Given the description of an element on the screen output the (x, y) to click on. 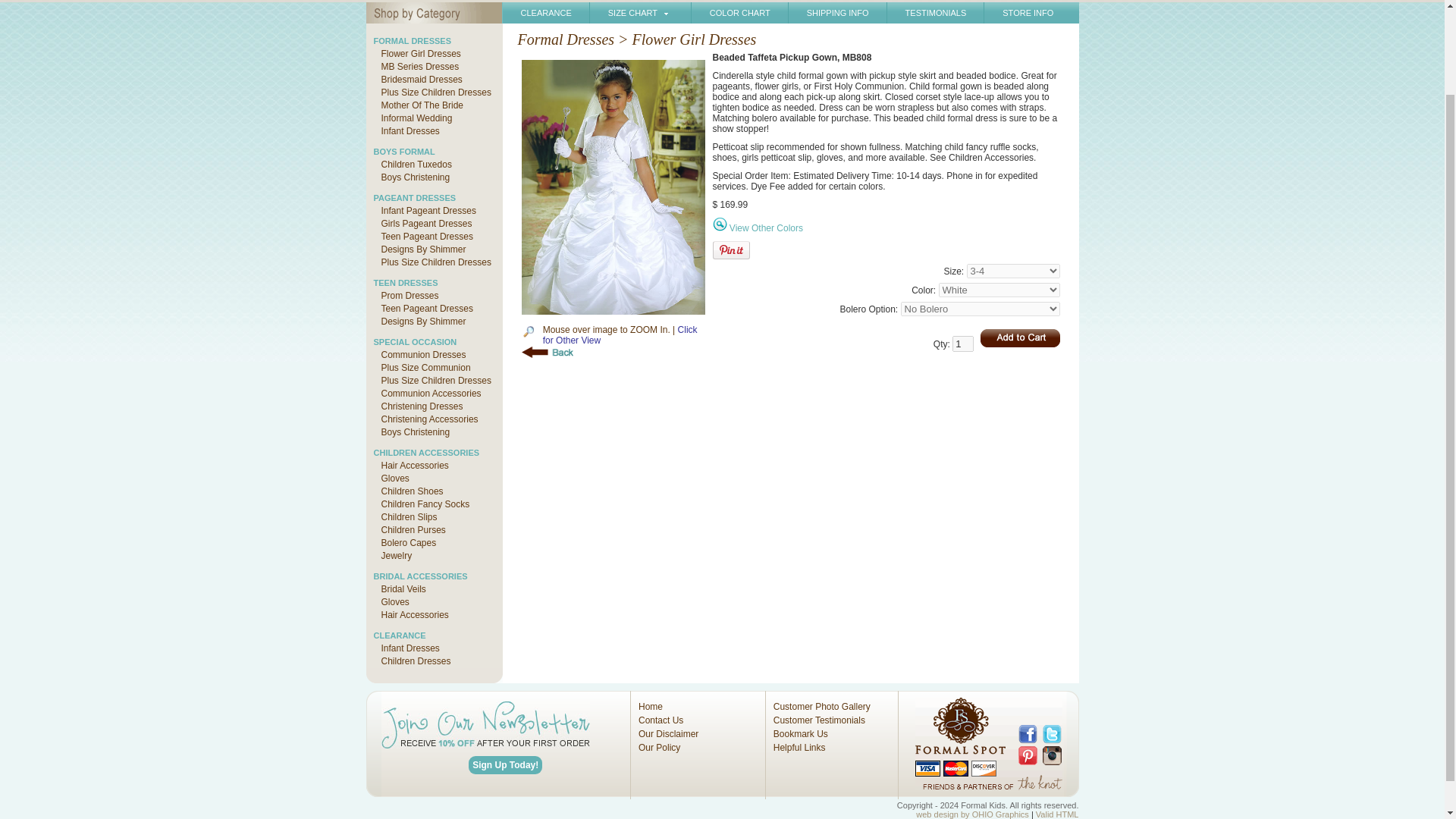
Plus Size Children Dresses (431, 91)
Beaded Taffeta Pickup Gown, MB808 (620, 334)
TEEN DRESSES (405, 282)
Plus Size Children Dresses (431, 380)
Teen Pageant Dresses (421, 235)
Bridesmaid Dresses (416, 79)
TESTIMONIALS (935, 12)
Prom Dresses (405, 295)
Plus Size Children Dresses (431, 262)
Children Tuxedos (411, 163)
